Given the description of an element on the screen output the (x, y) to click on. 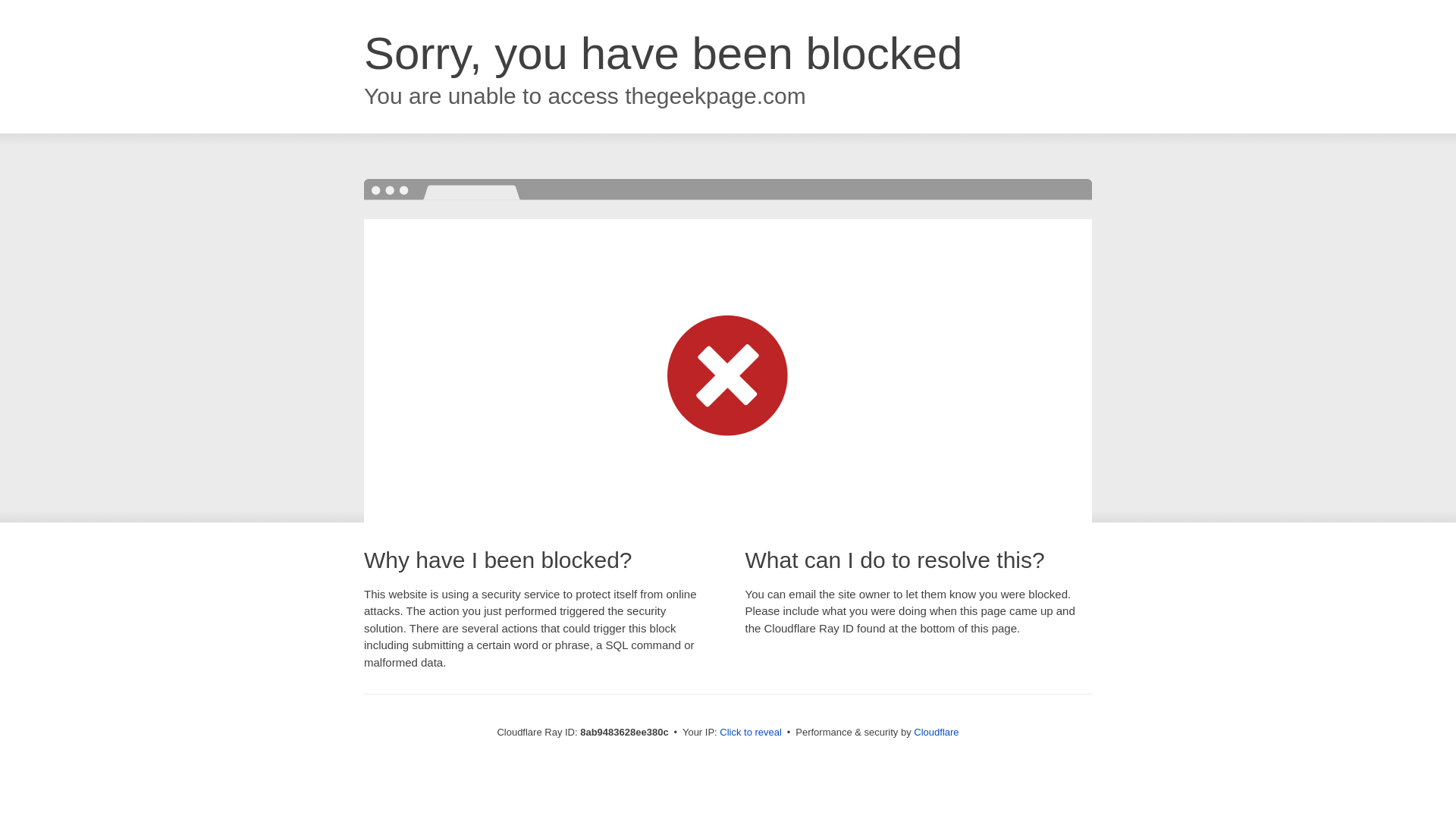
Cloudflare (936, 731)
Click to reveal (750, 732)
